Given the description of an element on the screen output the (x, y) to click on. 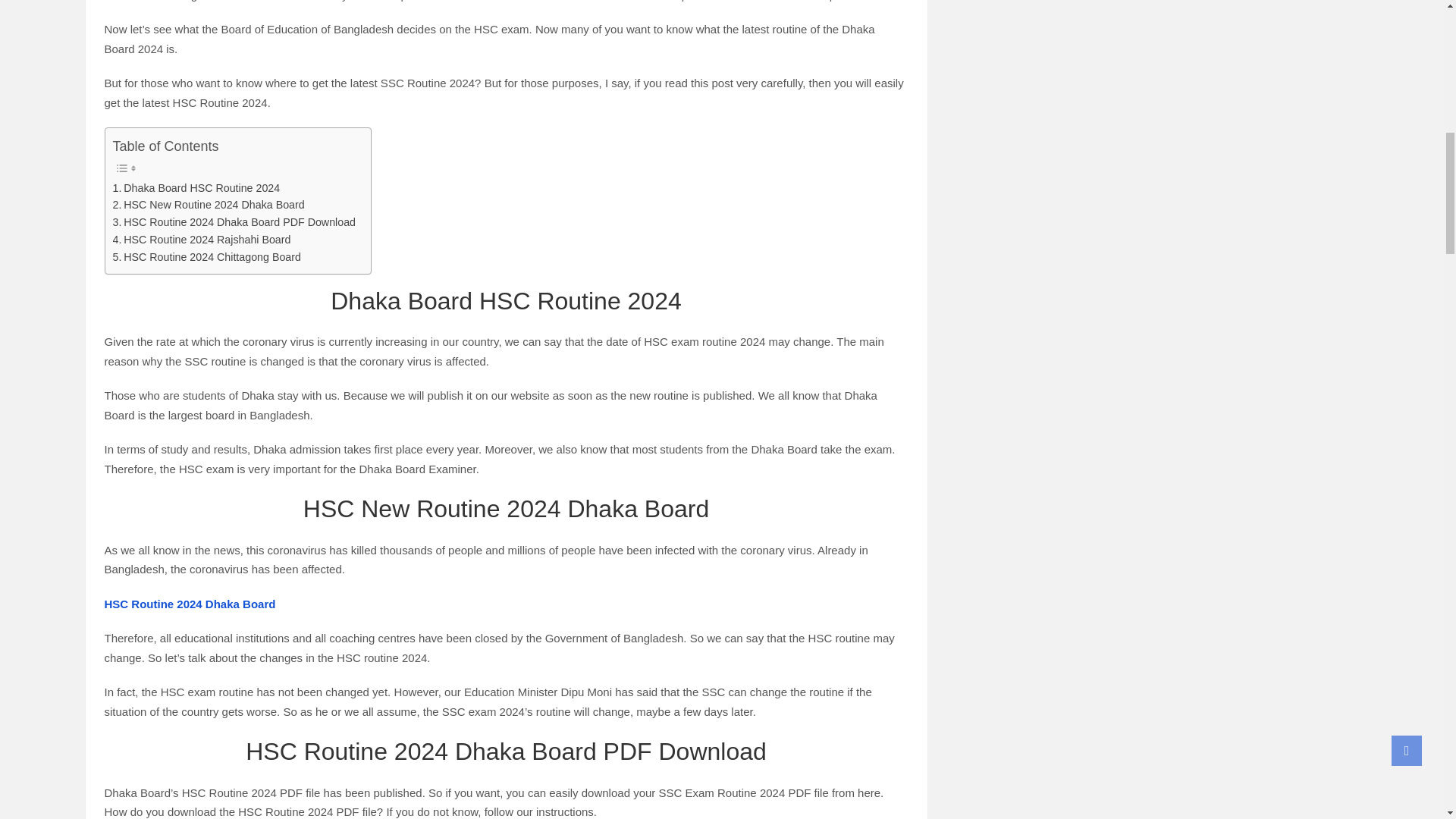
HSC Routine 2024 Dhaka Board (190, 603)
Dhaka Board HSC Routine 2024 (195, 188)
Dhaka Board HSC Routine 2024 (195, 188)
HSC Routine 2024 Chittagong Board (205, 257)
HSC Routine 2024 Dhaka Board PDF Download (233, 221)
HSC Routine 2024 Rajshahi Board (200, 239)
HSC Routine 2024 Rajshahi Board (200, 239)
HSC New Routine 2024 Dhaka Board (208, 204)
HSC New Routine 2024 Dhaka Board (208, 204)
HSC Routine 2024 Dhaka Board PDF Download (233, 221)
